Given the description of an element on the screen output the (x, y) to click on. 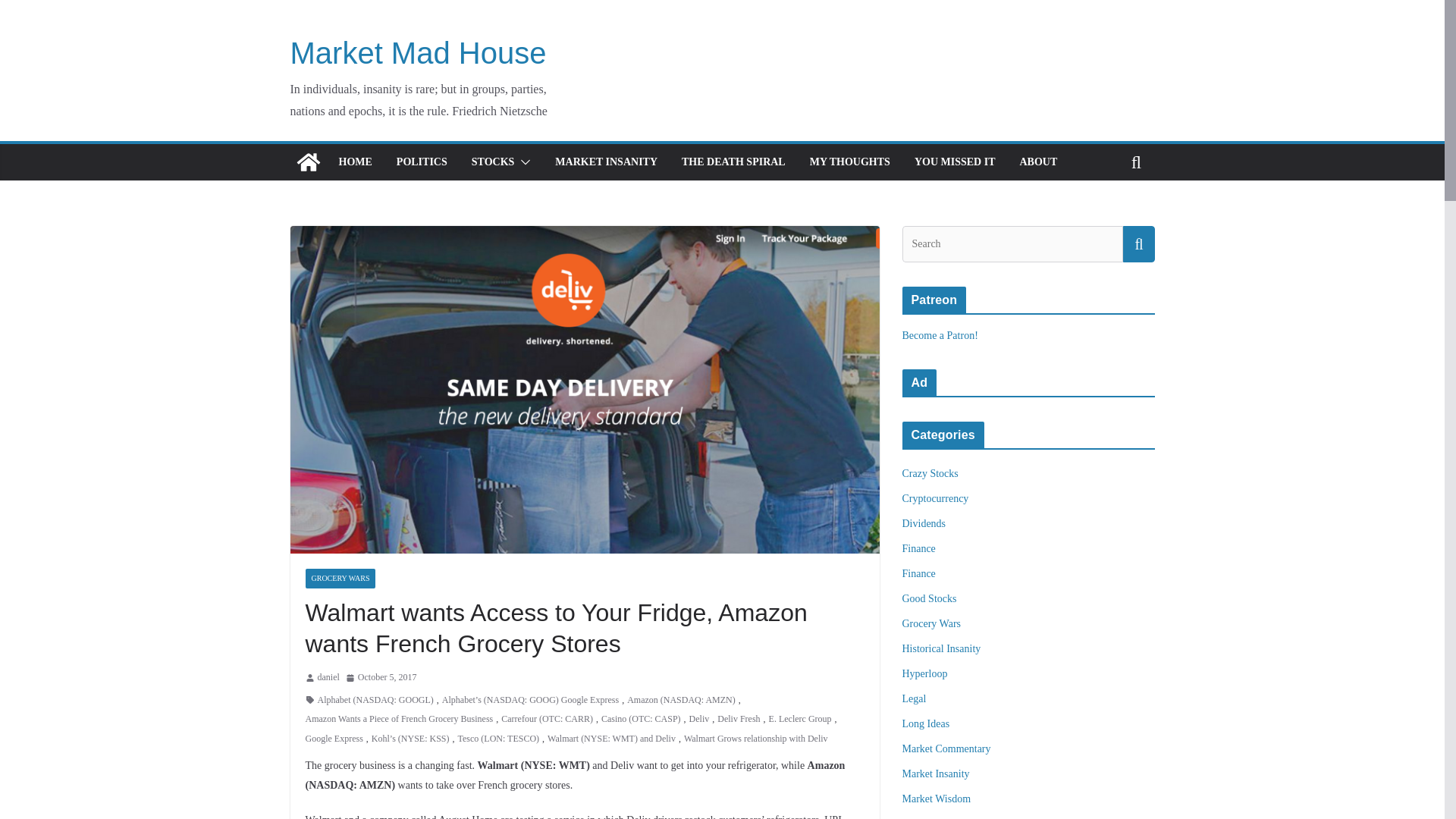
MY THOUGHTS (849, 161)
STOCKS (493, 161)
October 5, 2017 (381, 677)
YOU MISSED IT (954, 161)
POLITICS (421, 161)
E. Leclerc Group (799, 719)
HOME (354, 161)
Google Express (333, 739)
daniel (328, 677)
Amazon Wants a Piece of French Grocery Business (398, 719)
Market Mad House (417, 52)
GROCERY WARS (339, 578)
Deliv Fresh (738, 719)
Market Mad House (417, 52)
ABOUT (1038, 161)
